Given the description of an element on the screen output the (x, y) to click on. 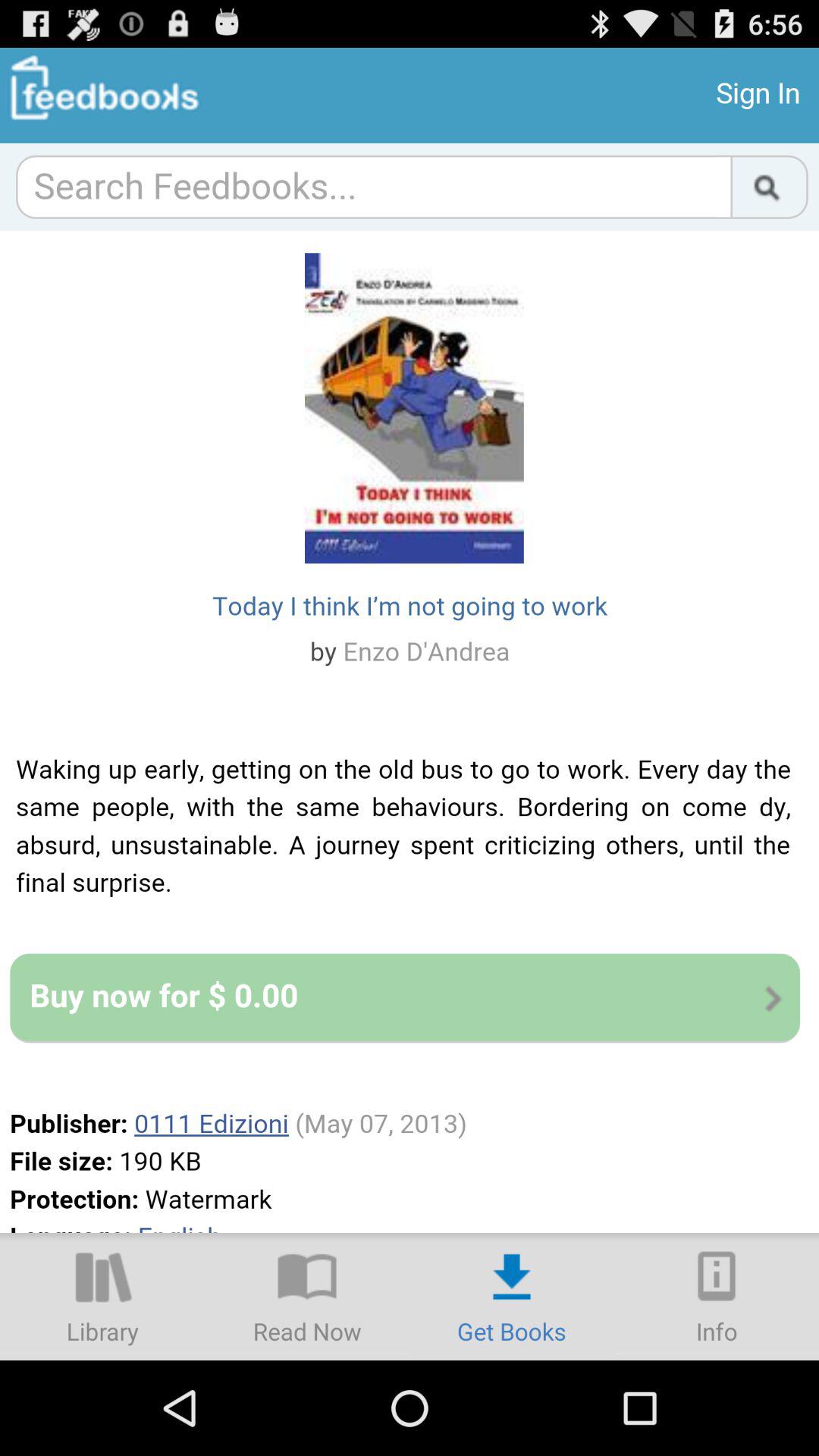
select the library option (102, 1296)
